Given the description of an element on the screen output the (x, y) to click on. 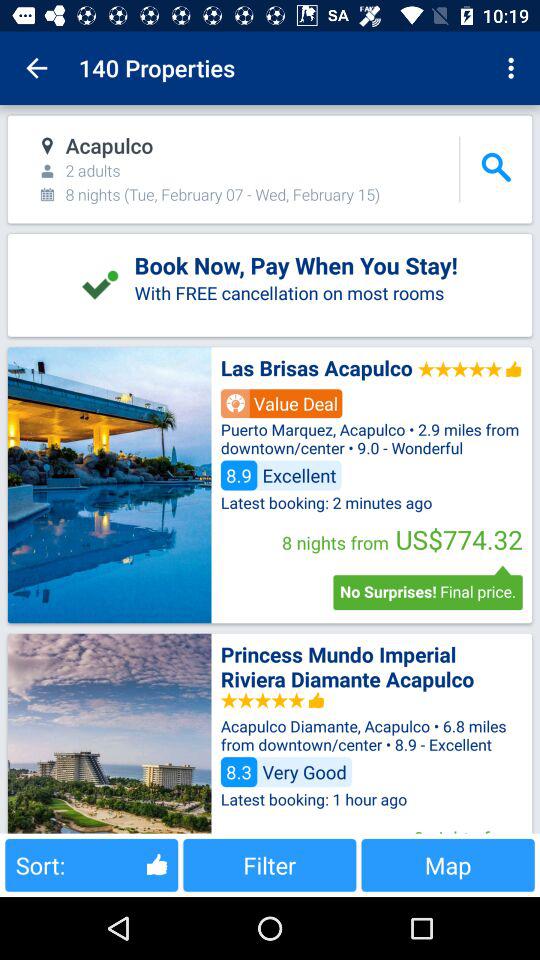
open website (109, 733)
